Given the description of an element on the screen output the (x, y) to click on. 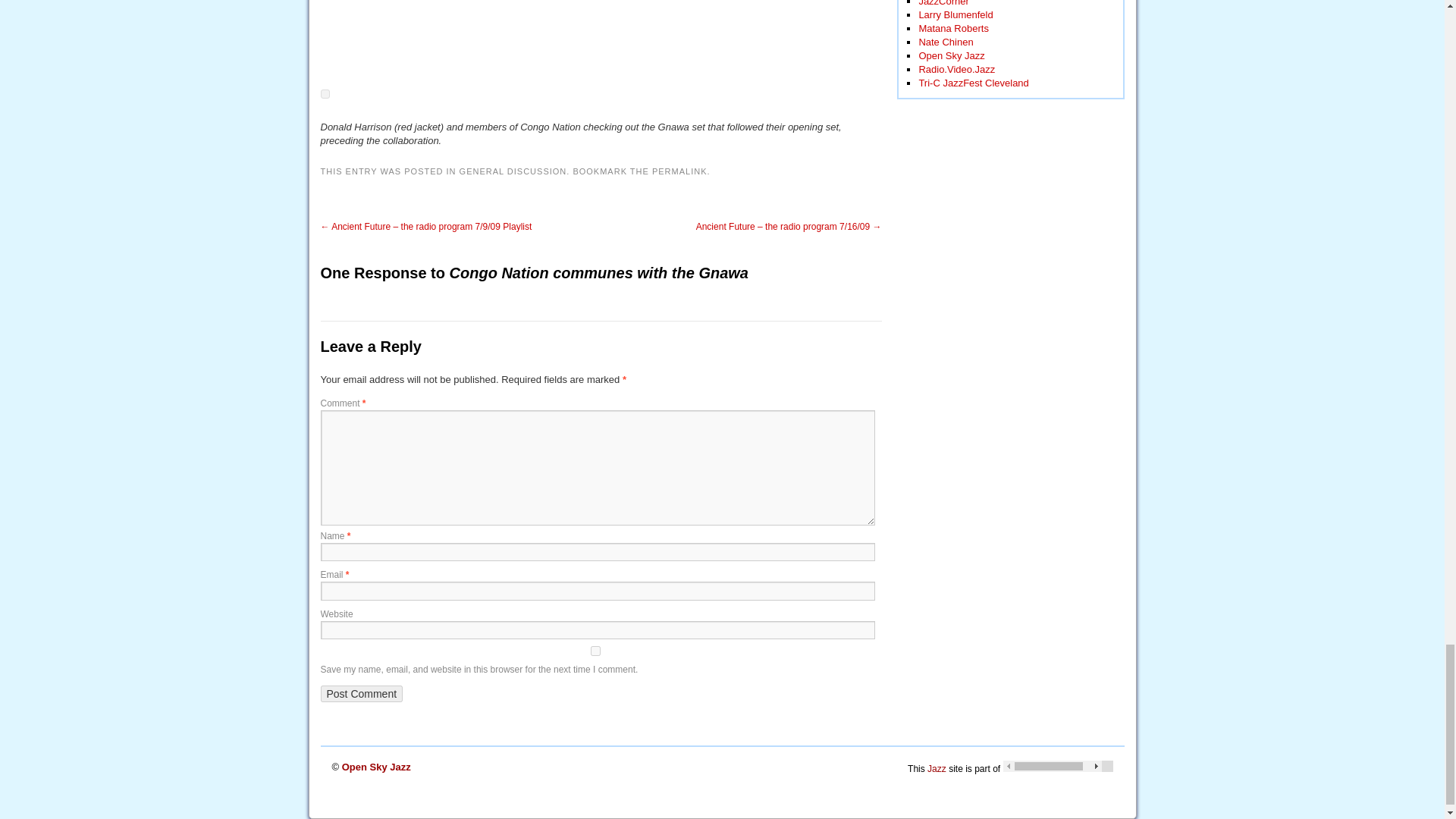
yes (594, 651)
Permalink to Congo Nation communes with the Gnawa (679, 171)
Post Comment (361, 693)
GENERAL DISCUSSION (513, 171)
Post Comment (361, 693)
PERMALINK (679, 171)
